Given the description of an element on the screen output the (x, y) to click on. 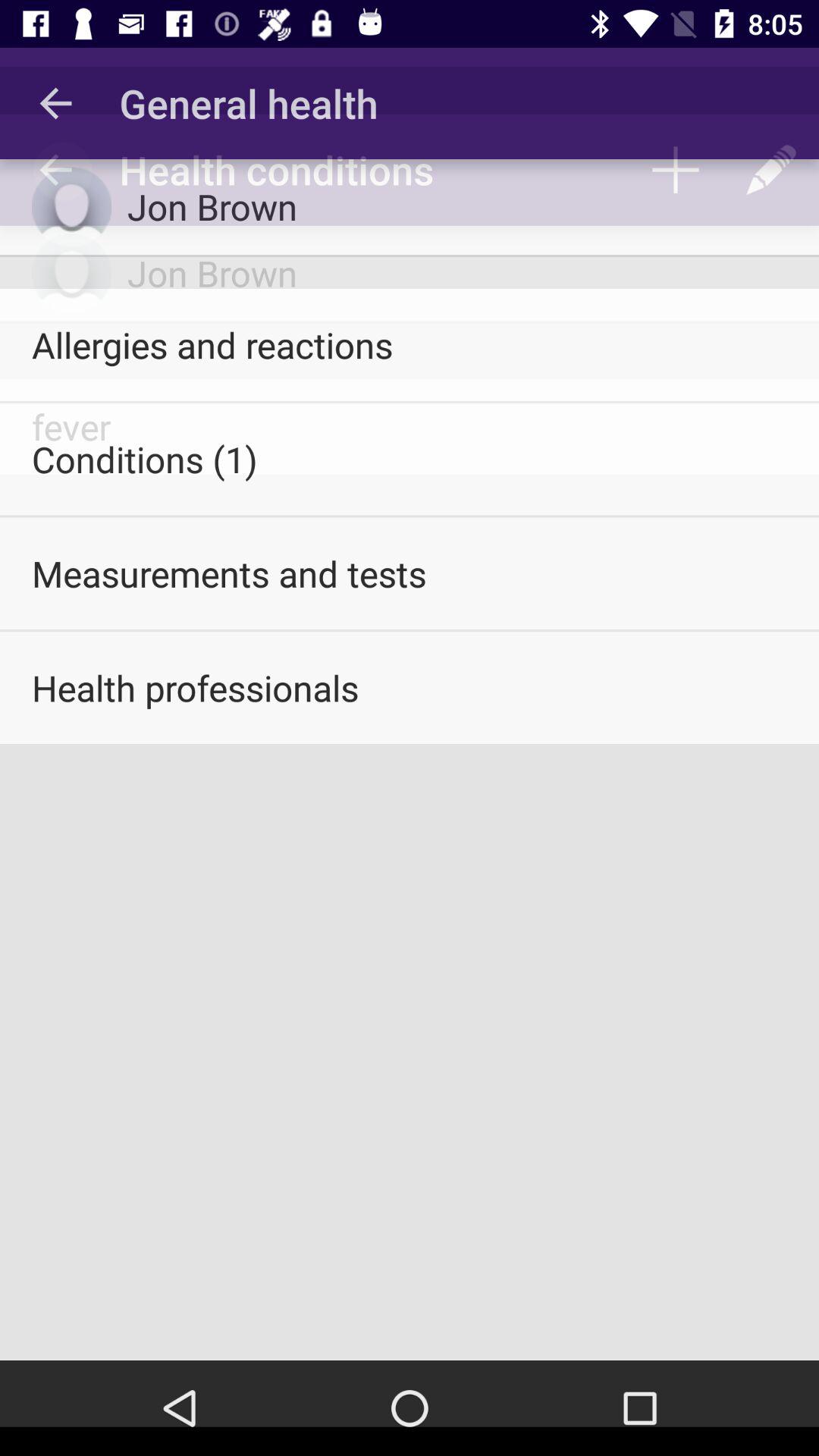
jump to allergies and reactions  item (409, 344)
